Given the description of an element on the screen output the (x, y) to click on. 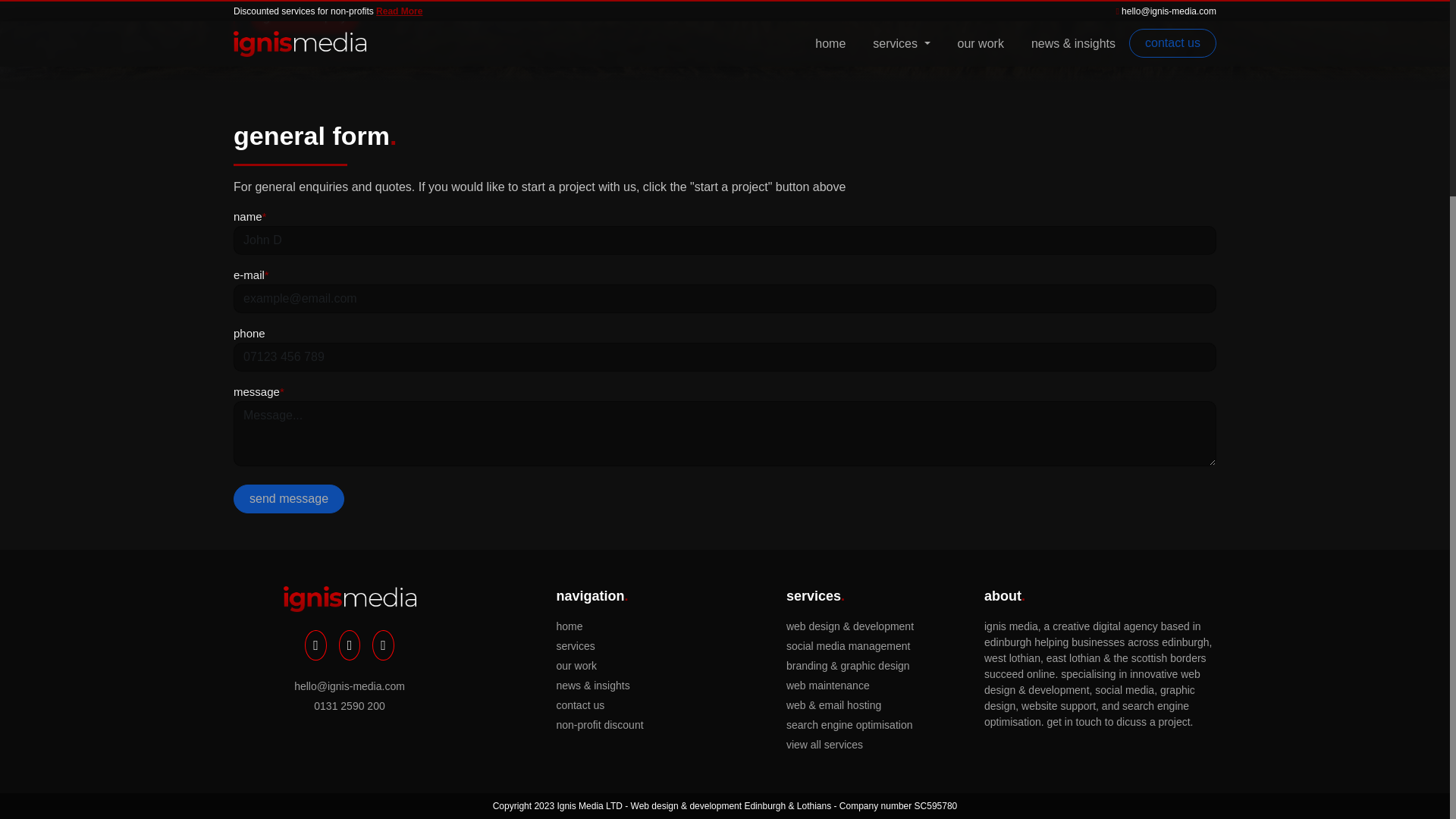
contact us (599, 705)
search engine optimisation (850, 725)
web maintenance (850, 685)
0131 2590 200 (349, 706)
services (599, 646)
non-profit discount (599, 725)
social media management (850, 646)
general enquiry (304, 17)
start a project (420, 17)
send message (287, 498)
our work (599, 666)
home (599, 626)
